Given the description of an element on the screen output the (x, y) to click on. 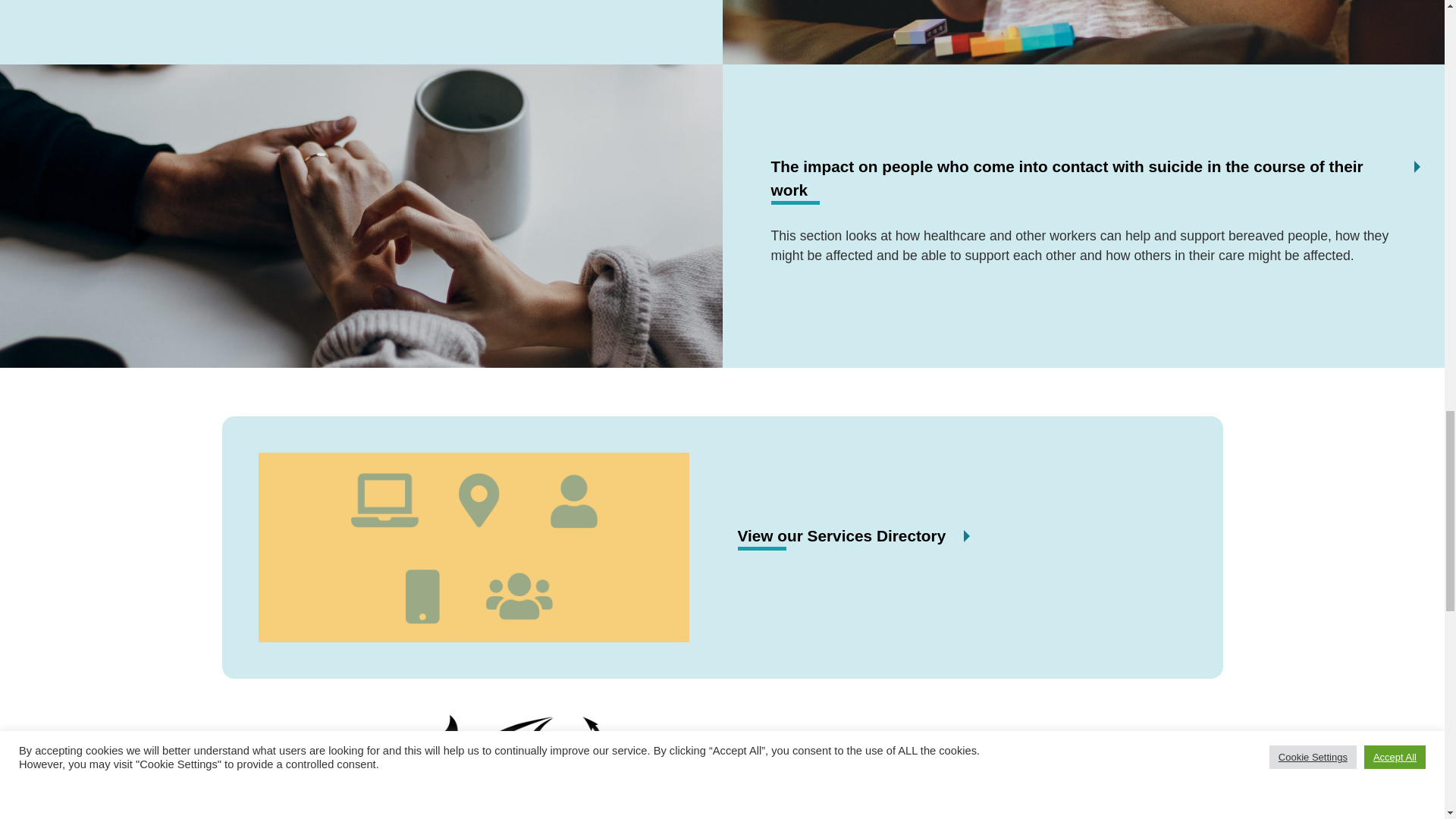
View our Services Directory (840, 535)
